Given the description of an element on the screen output the (x, y) to click on. 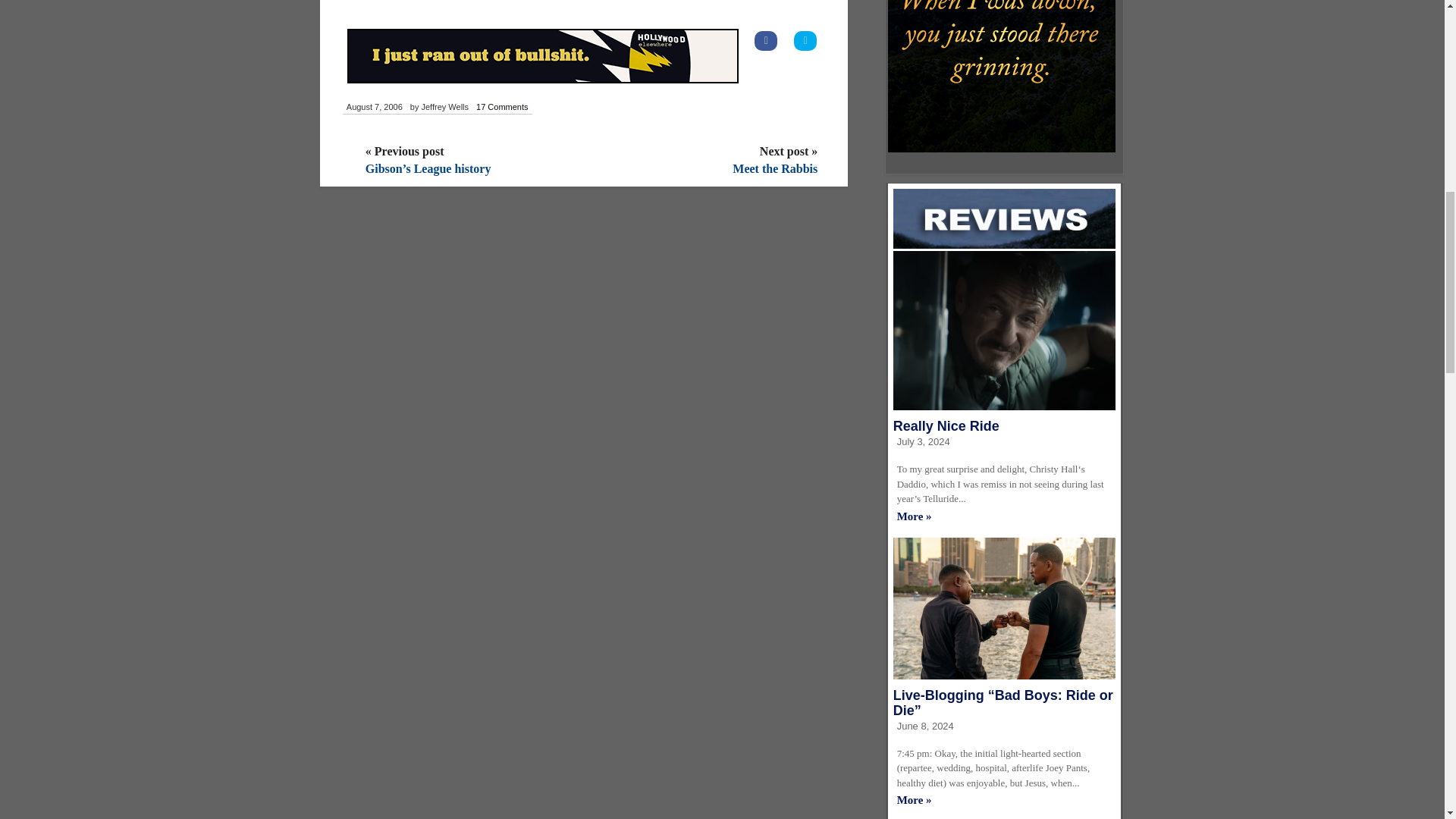
17 Comments (501, 107)
August 7, 2006 (374, 107)
by Jeffrey Wells (438, 107)
